Given the description of an element on the screen output the (x, y) to click on. 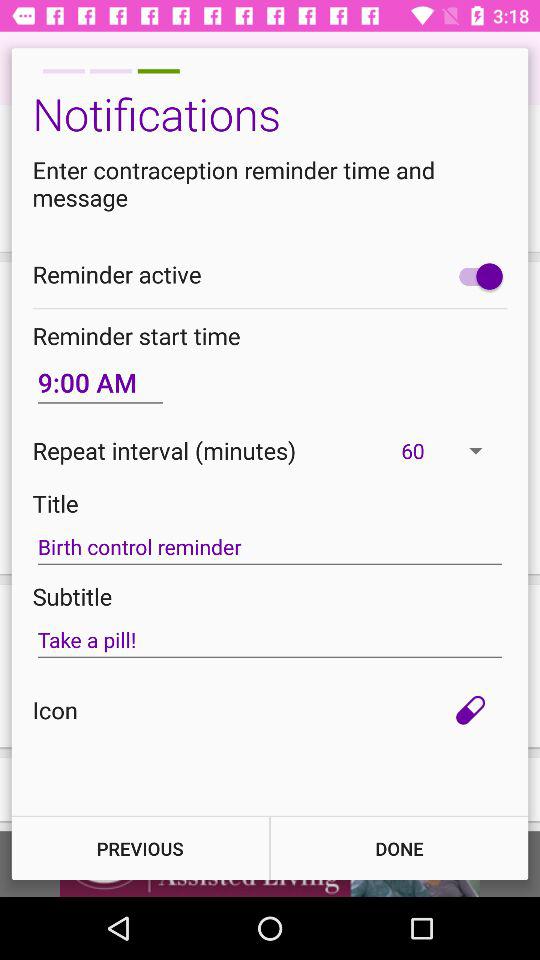
launch icon above subtitle item (269, 547)
